Given the description of an element on the screen output the (x, y) to click on. 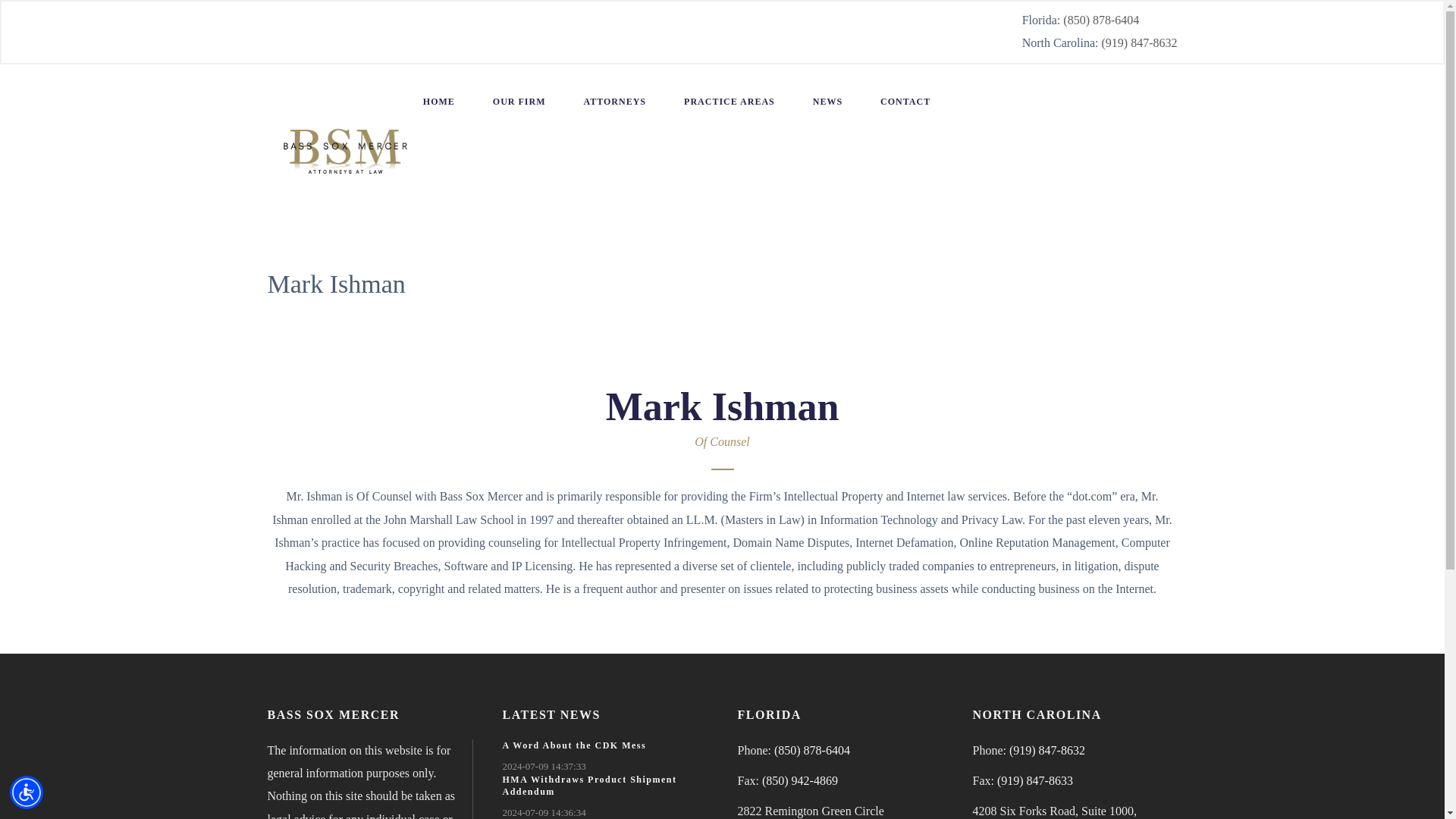
HMA Withdraws Product Shipment Addendum (589, 785)
A Word About the CDK Mess (574, 745)
PRACTICE AREAS (729, 102)
Accessibility Menu (26, 792)
